Given the description of an element on the screen output the (x, y) to click on. 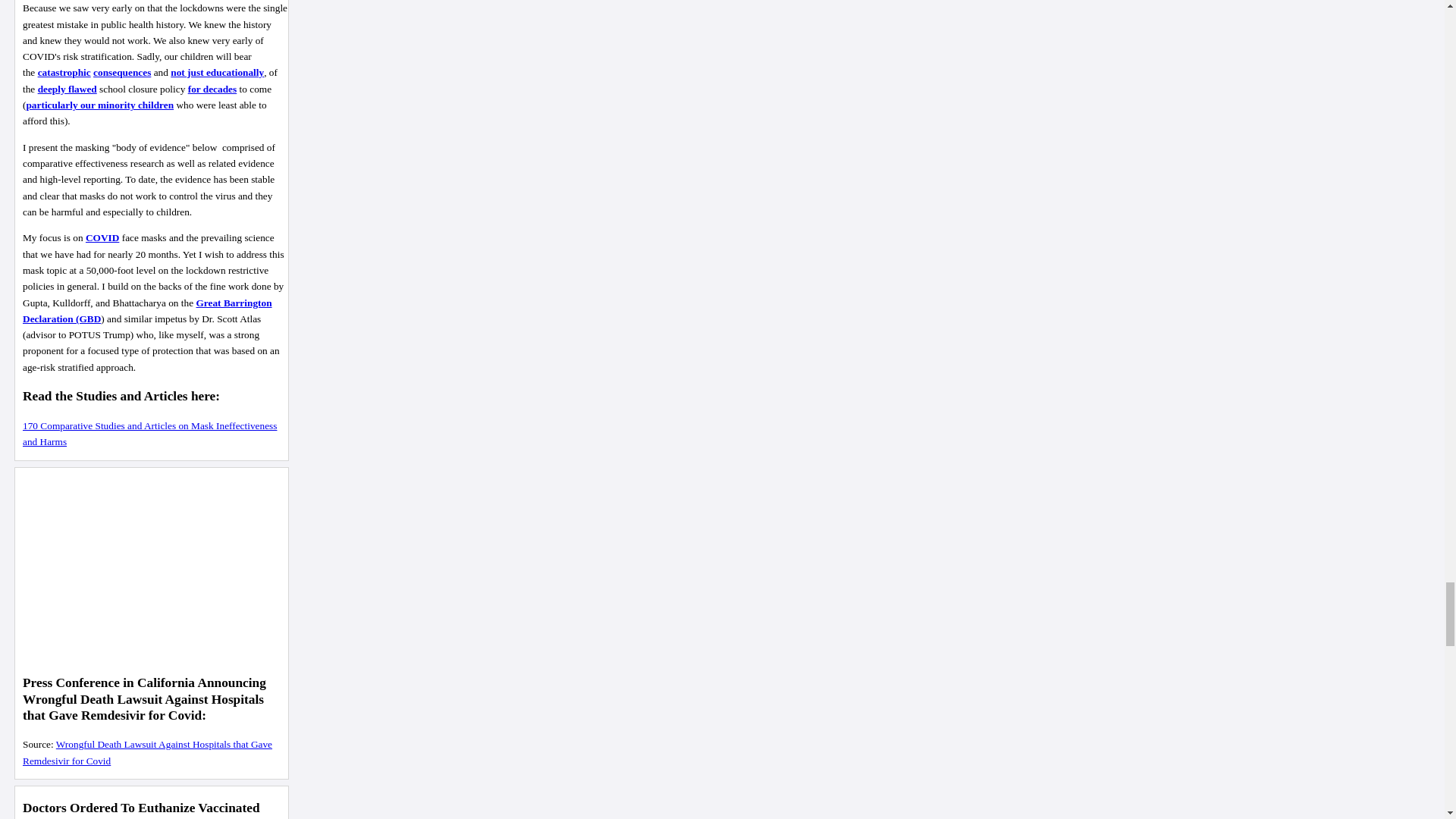
particularly our minority children (99, 104)
deeply flawed (67, 89)
for decades (212, 89)
catastrophic (63, 71)
consequences (122, 71)
COVID (102, 237)
not just educationally (216, 71)
